Given the description of an element on the screen output the (x, y) to click on. 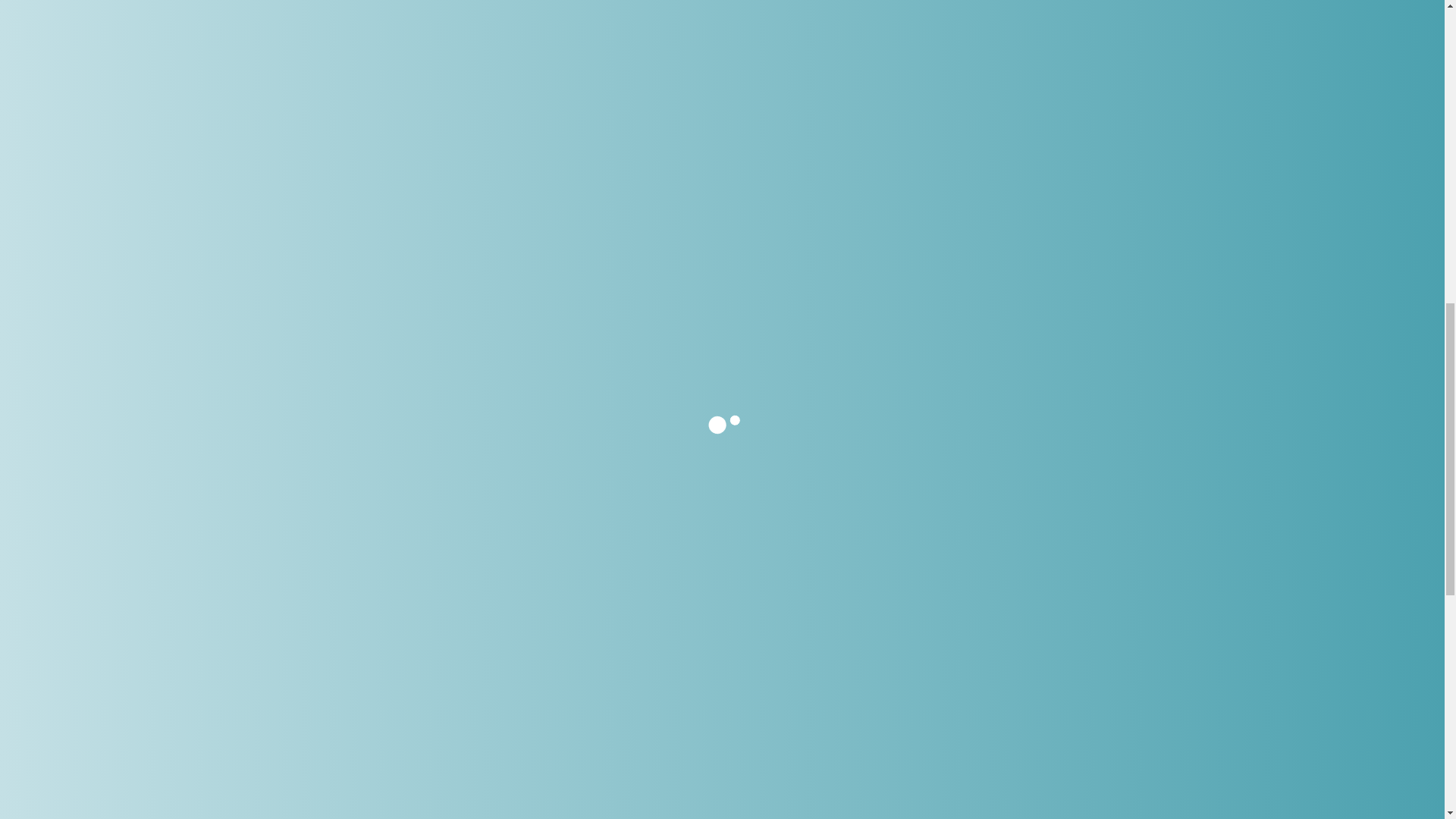
Submit (328, 338)
Submit (328, 338)
yes (283, 297)
